Given the description of an element on the screen output the (x, y) to click on. 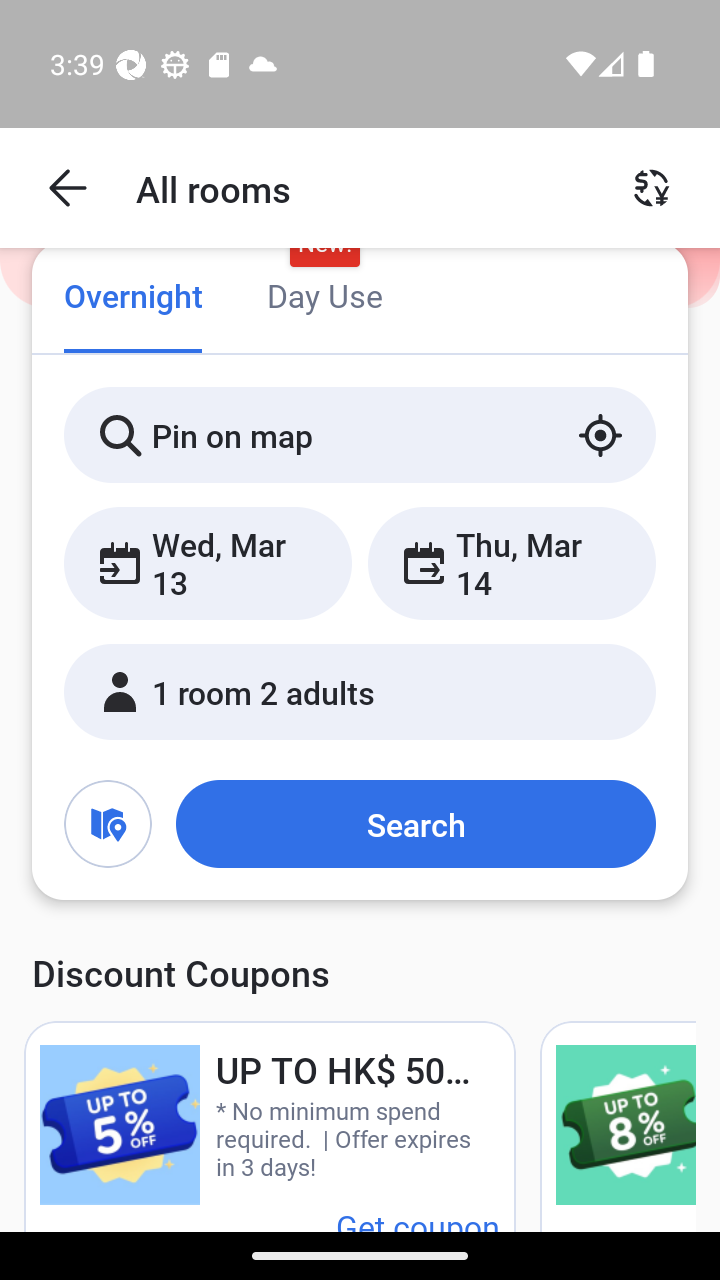
Day Use (324, 298)
Pin on map (359, 434)
Wed, Mar 13 (208, 562)
Thu, Mar 14 (511, 562)
1 room 2 adults (359, 691)
Search (415, 823)
